Given the description of an element on the screen output the (x, y) to click on. 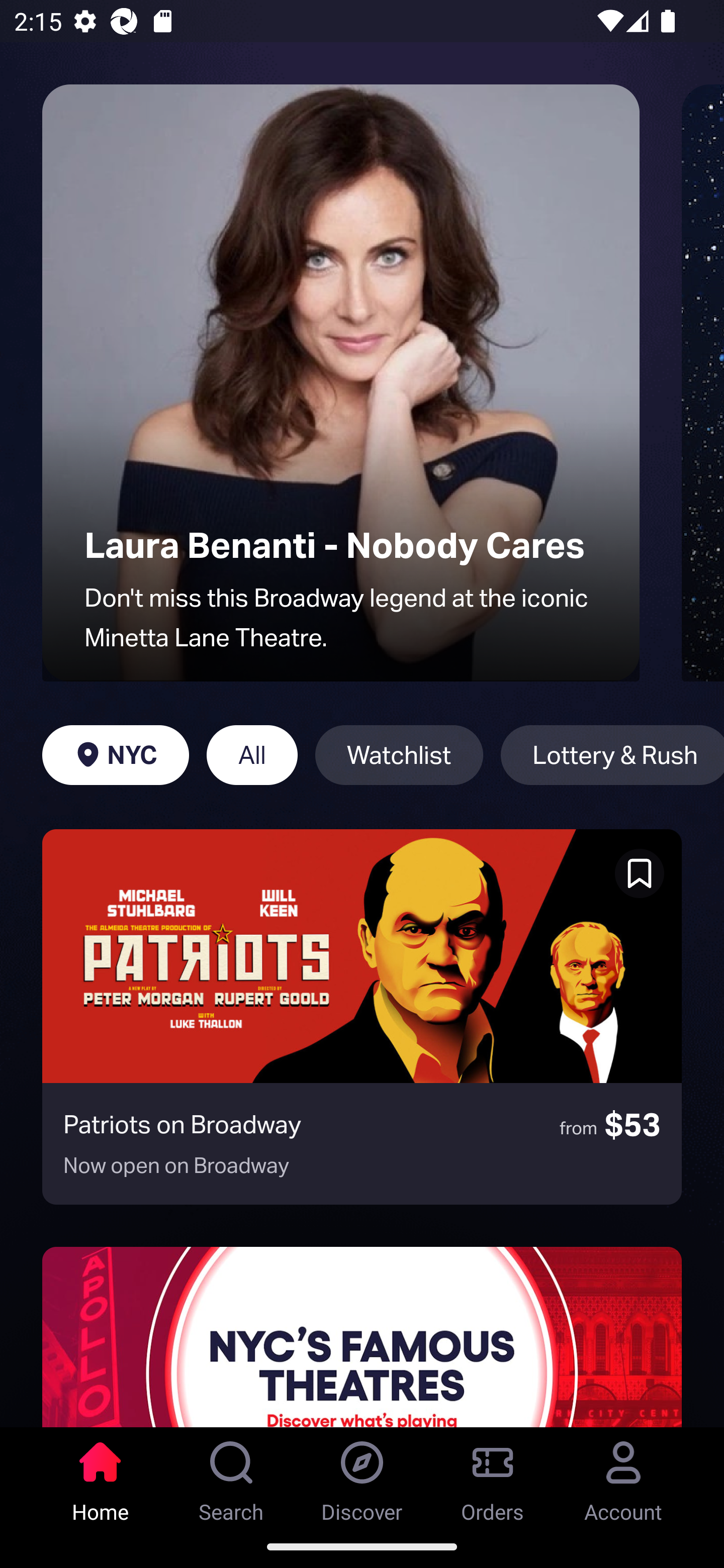
NYC (114, 754)
All (251, 754)
Watchlist (398, 754)
Lottery & Rush (612, 754)
Patriots on Broadway from $53 Now open on Broadway (361, 1016)
Search (230, 1475)
Discover (361, 1475)
Orders (492, 1475)
Account (623, 1475)
